Given the description of an element on the screen output the (x, y) to click on. 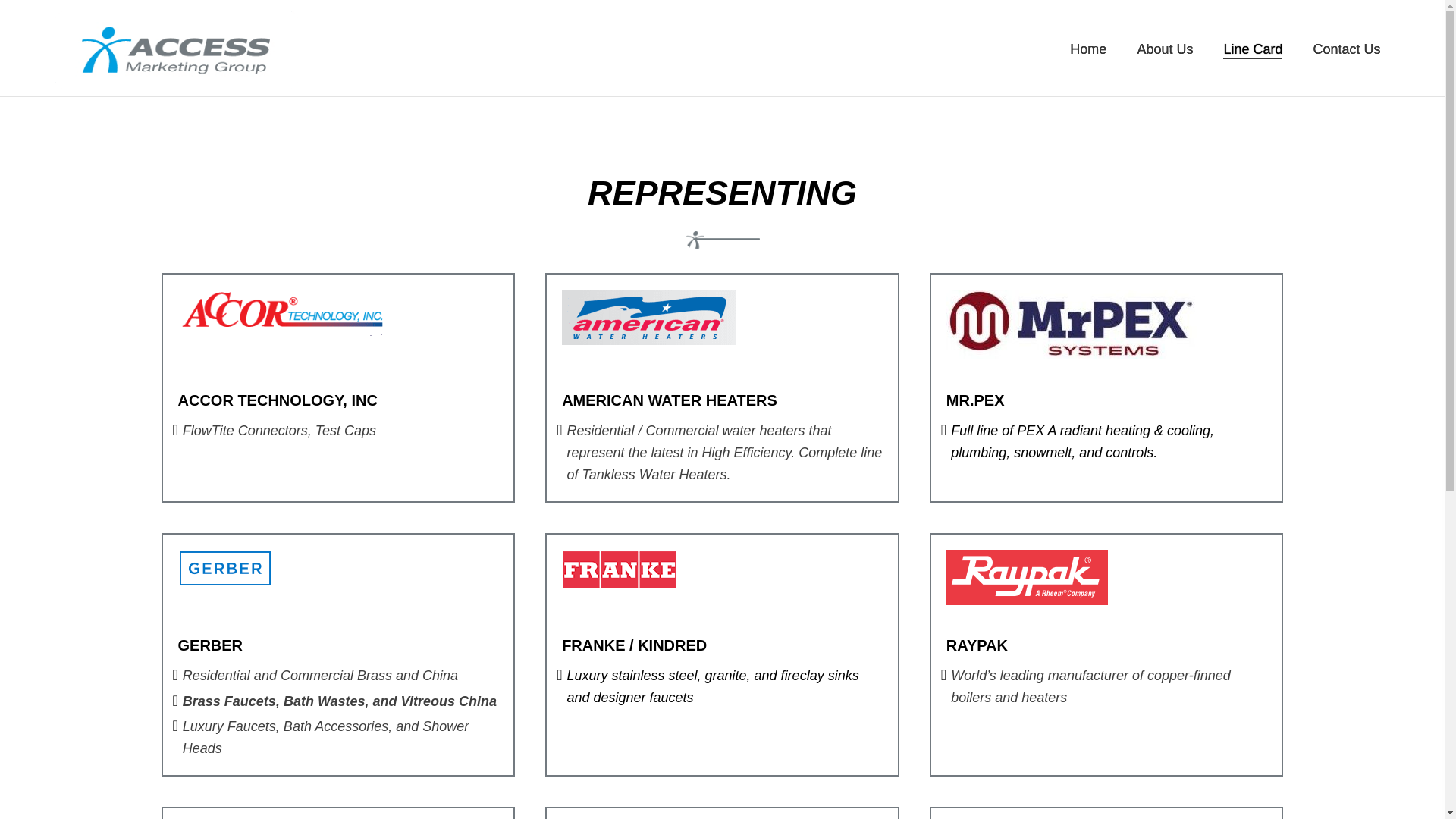
About Us (1164, 49)
Home (1088, 49)
Access Marketing Group, Inc (649, 316)
RAYPAK (976, 645)
ACCOR TECHNOLOGY, INC (277, 400)
Access Marketing Group, Inc (1027, 577)
Access Marketing Group, Inc (619, 569)
Access Marketing Group, Inc (282, 312)
Access Marketing Group, Inc (1071, 323)
GERBER (210, 645)
Access Marketing Group, Inc (225, 568)
Line Card (1252, 49)
Access Marketing Group, Inc (176, 49)
MR.PEX (975, 400)
Contact Us (1346, 49)
